Given the description of an element on the screen output the (x, y) to click on. 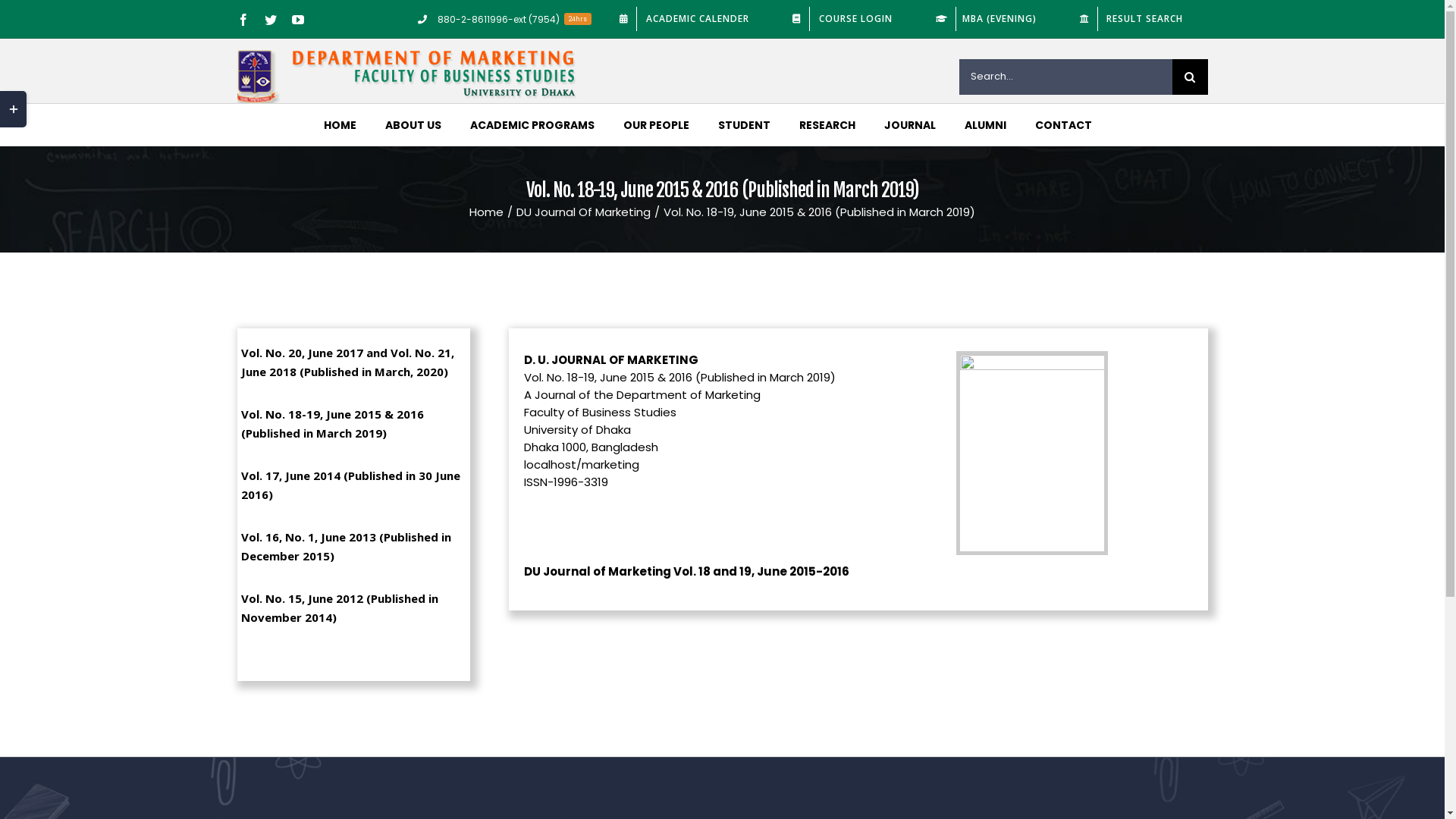
OUR PEOPLE Element type: text (656, 124)
DU Journal of Marketing Vol. 18 and 19, June 2015-2016 Element type: text (686, 571)
ACADEMIC PROGRAMS Element type: text (532, 124)
MBA (EVENING) Element type: text (989, 18)
Vol. 16, No. 1, June 2013 (Published in December 2015) Element type: text (346, 546)
youtube Element type: text (297, 19)
DU Journal Of Marketing Element type: text (583, 211)
STUDENT Element type: text (744, 124)
facebook Element type: text (242, 19)
Toggle Sliding Bar Area Element type: text (13, 109)
twitter Element type: text (269, 19)
Home Element type: text (486, 211)
COURSE LOGIN Element type: text (846, 18)
ALUMNI Element type: text (985, 124)
880-2-8611996-ext (7954)
24hrs Element type: text (504, 18)
cover page Element type: hover (1032, 452)
RESULT SEARCH Element type: text (1135, 18)
Vol. No. 15, June 2012 (Published in November 2014) Element type: text (339, 607)
ABOUT US Element type: text (413, 124)
HOME Element type: text (339, 124)
RESEARCH Element type: text (827, 124)
ACADEMIC CALENDER Element type: text (688, 18)
Vol. 17, June 2014 (Published in 30 June 2016) Element type: text (350, 484)
JOURNAL Element type: text (909, 124)
Vol. No. 18-19, June 2015 & 2016 (Published in March 2019) Element type: text (332, 423)
CONTACT Element type: text (1063, 124)
